Given the description of an element on the screen output the (x, y) to click on. 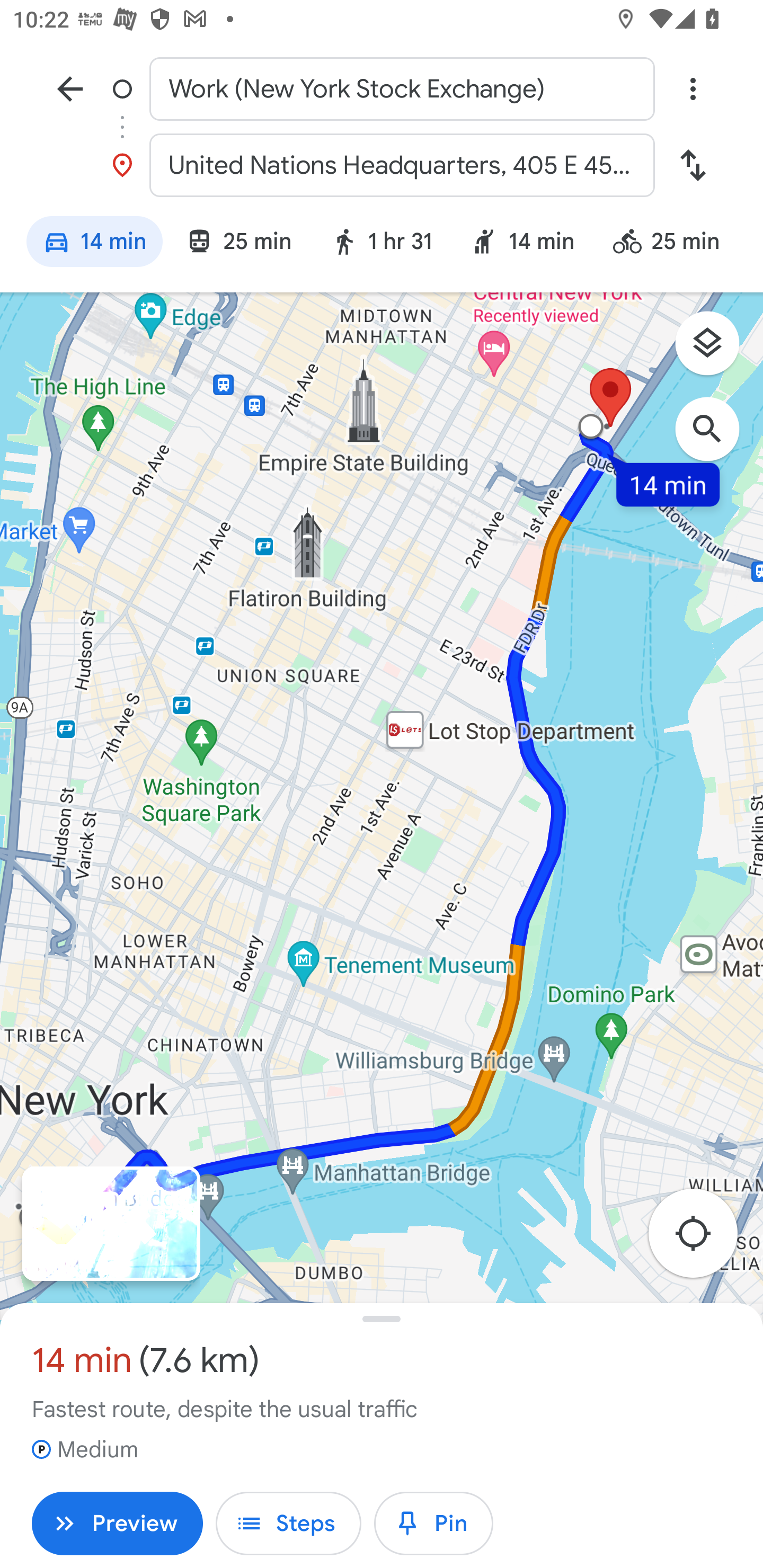
Navigate up (70, 88)
Overflow menu (692, 88)
Swap start and destination (692, 165)
Transit mode: 25 min 25 min (238, 244)
Walking mode: 1 hr 31 1 hr 31 (381, 244)
Ride service: 14 min 14 min (522, 244)
Bicycling mode: 25 min 25 min (674, 244)
Layers (716, 349)
Search along route (716, 438)
Open Immersive View for routes (110, 1223)
Re-center map to your location (702, 1238)
Steps Steps Steps (288, 1522)
Pin trip Pin Pin trip (433, 1522)
